Given the description of an element on the screen output the (x, y) to click on. 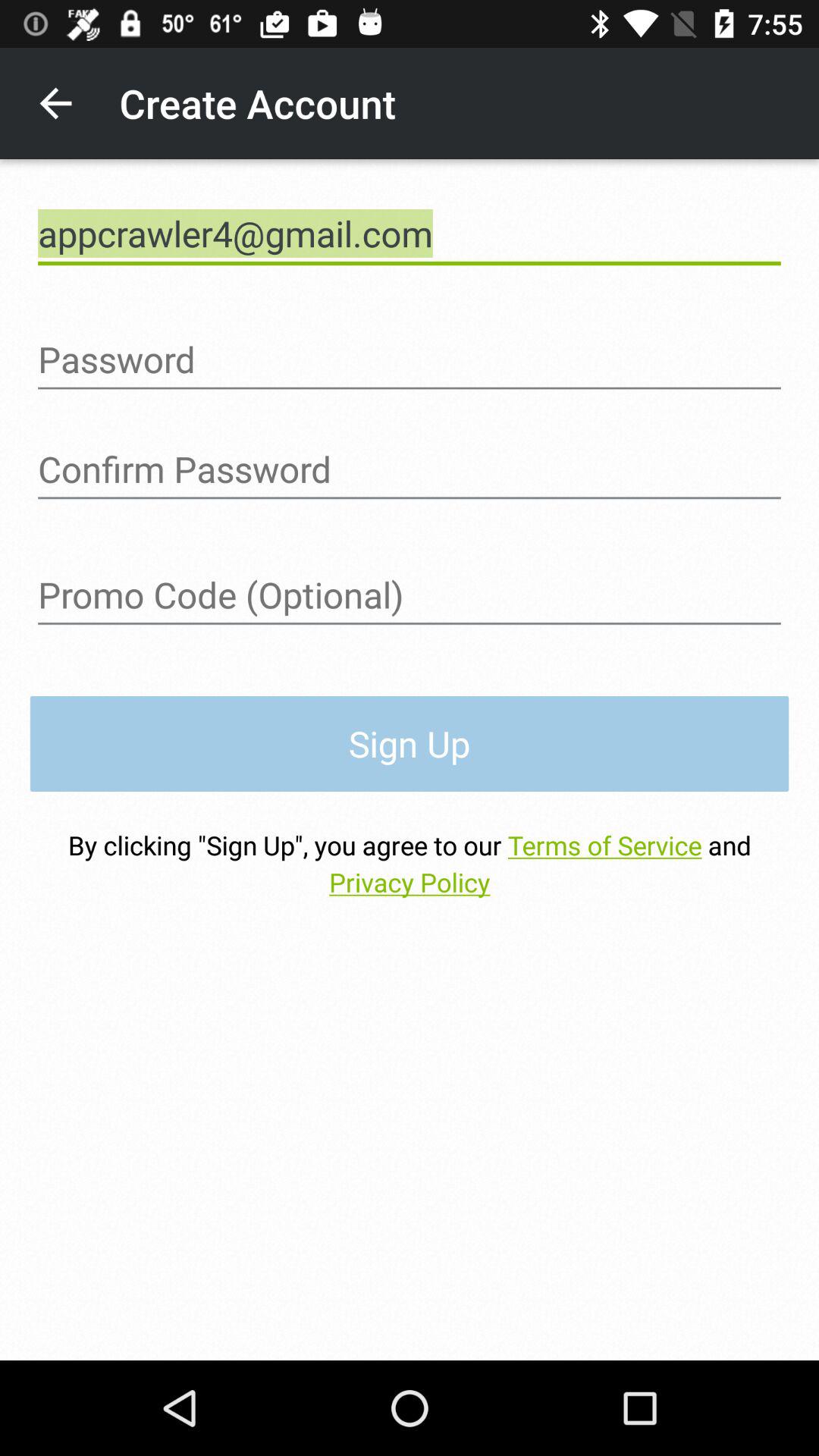
input password (409, 359)
